Given the description of an element on the screen output the (x, y) to click on. 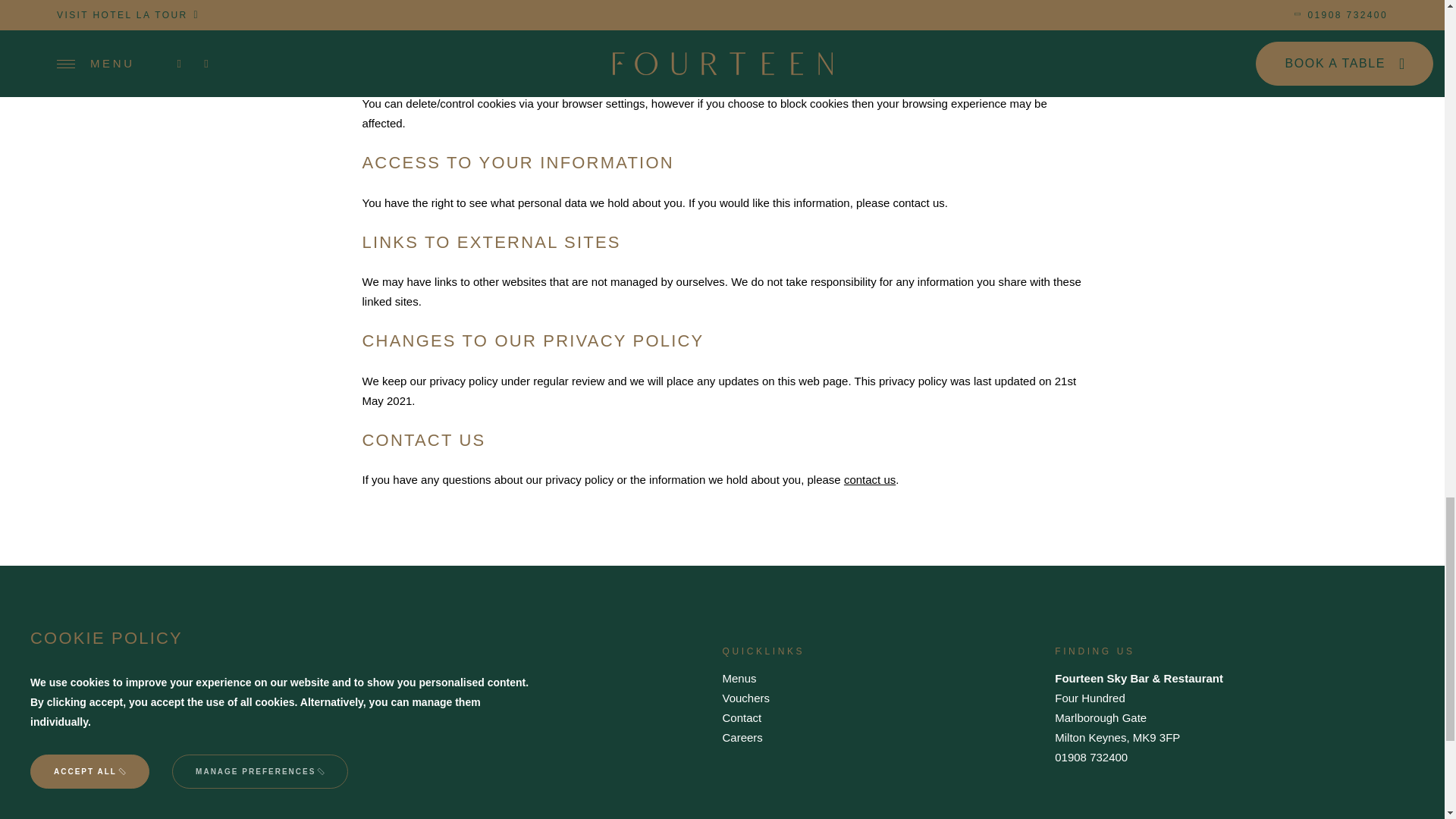
01908 732400 (1090, 757)
contact us (869, 479)
Careers (741, 737)
Menus (738, 677)
Vouchers (746, 697)
Contact (741, 717)
